Given the description of an element on the screen output the (x, y) to click on. 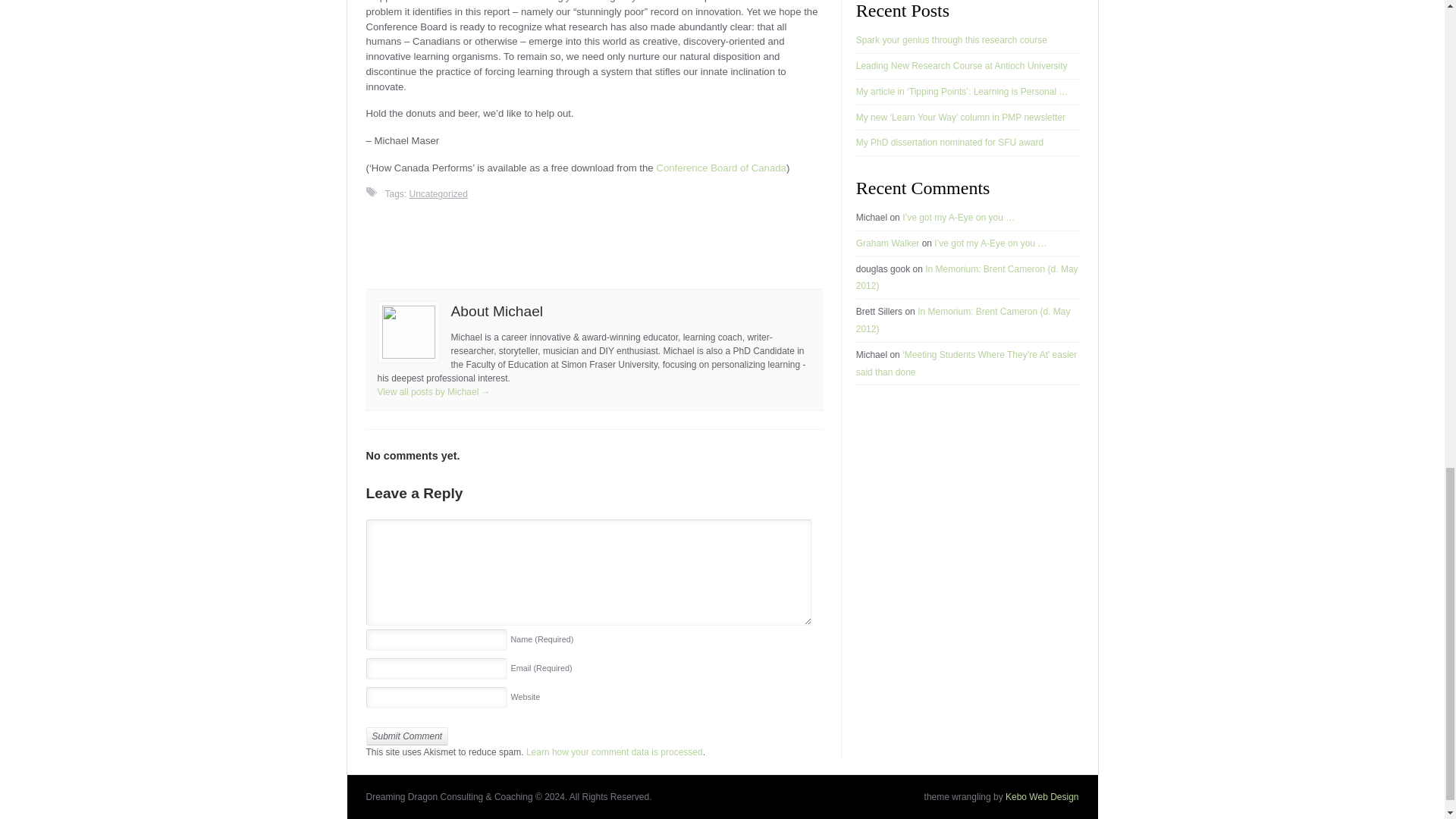
Submit Comment (406, 736)
Spark your genius through this research course (951, 40)
My PhD dissertation nominated for SFU award (949, 142)
Graham Walker (888, 243)
Submit Comment (406, 736)
Leading New Research Course at Antioch University (961, 65)
Learn how your comment data is processed (614, 751)
Conference Board of Canada (721, 167)
Uncategorized (438, 194)
